Given the description of an element on the screen output the (x, y) to click on. 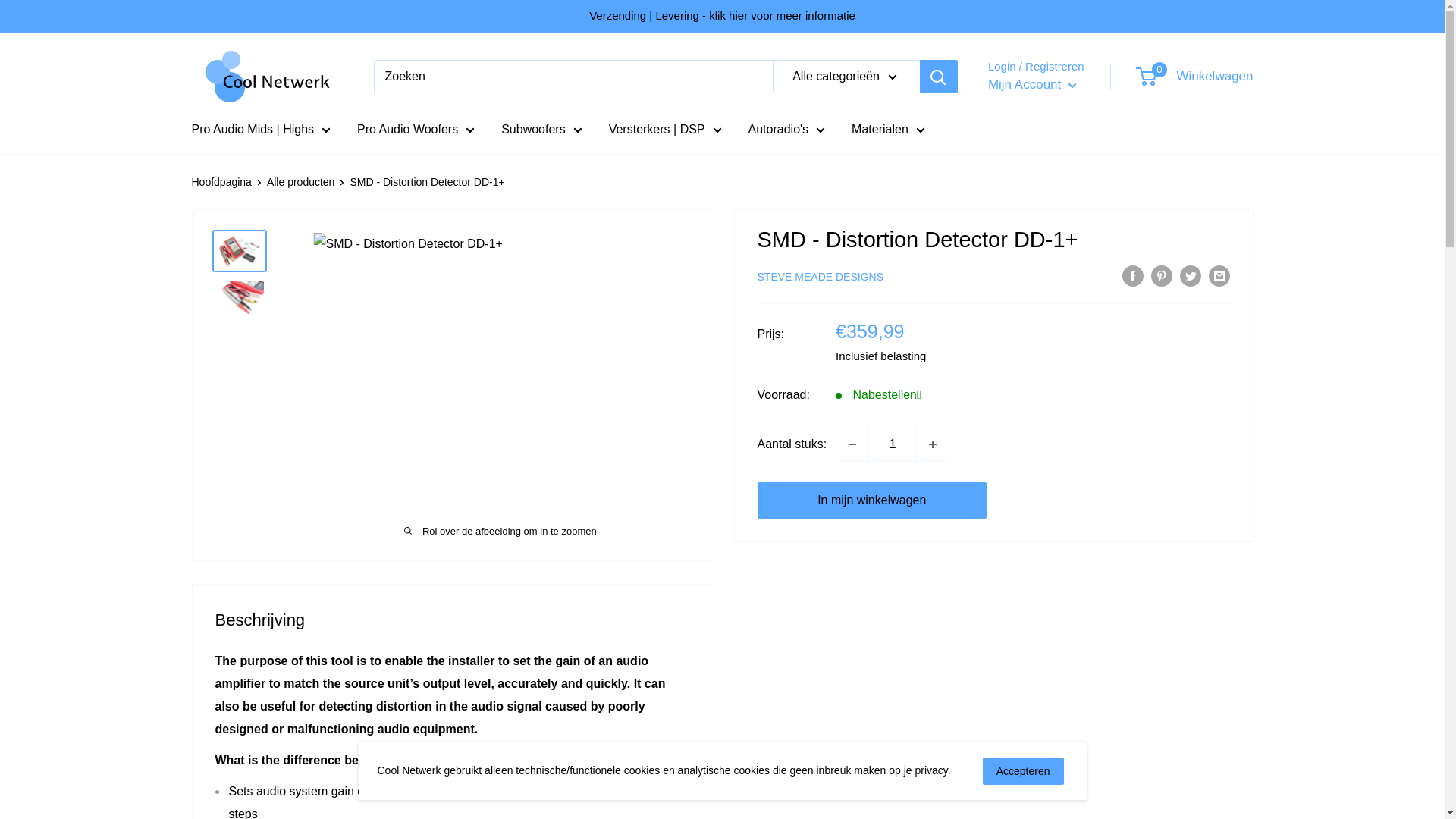
Verlaag de hoeveelheid met 1 (851, 444)
1 (892, 444)
Verhoog de hoeveelheid met 1 (933, 444)
